Given the description of an element on the screen output the (x, y) to click on. 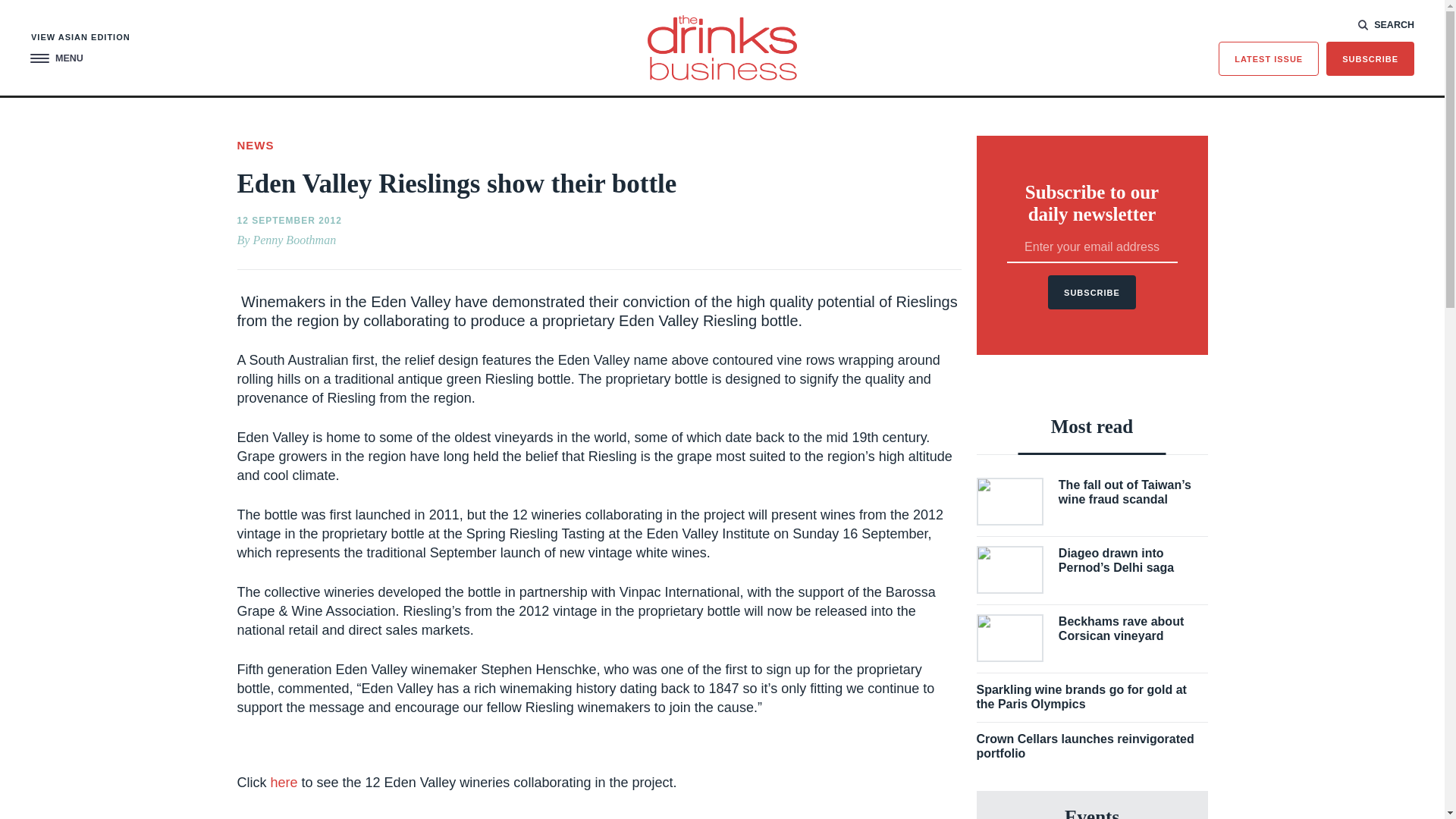
The Drinks Business (721, 47)
LATEST ISSUE (1268, 58)
SEARCH (1385, 24)
VIEW ASIAN EDITION (80, 37)
SUBSCRIBE (1369, 58)
MENU (56, 58)
